Given the description of an element on the screen output the (x, y) to click on. 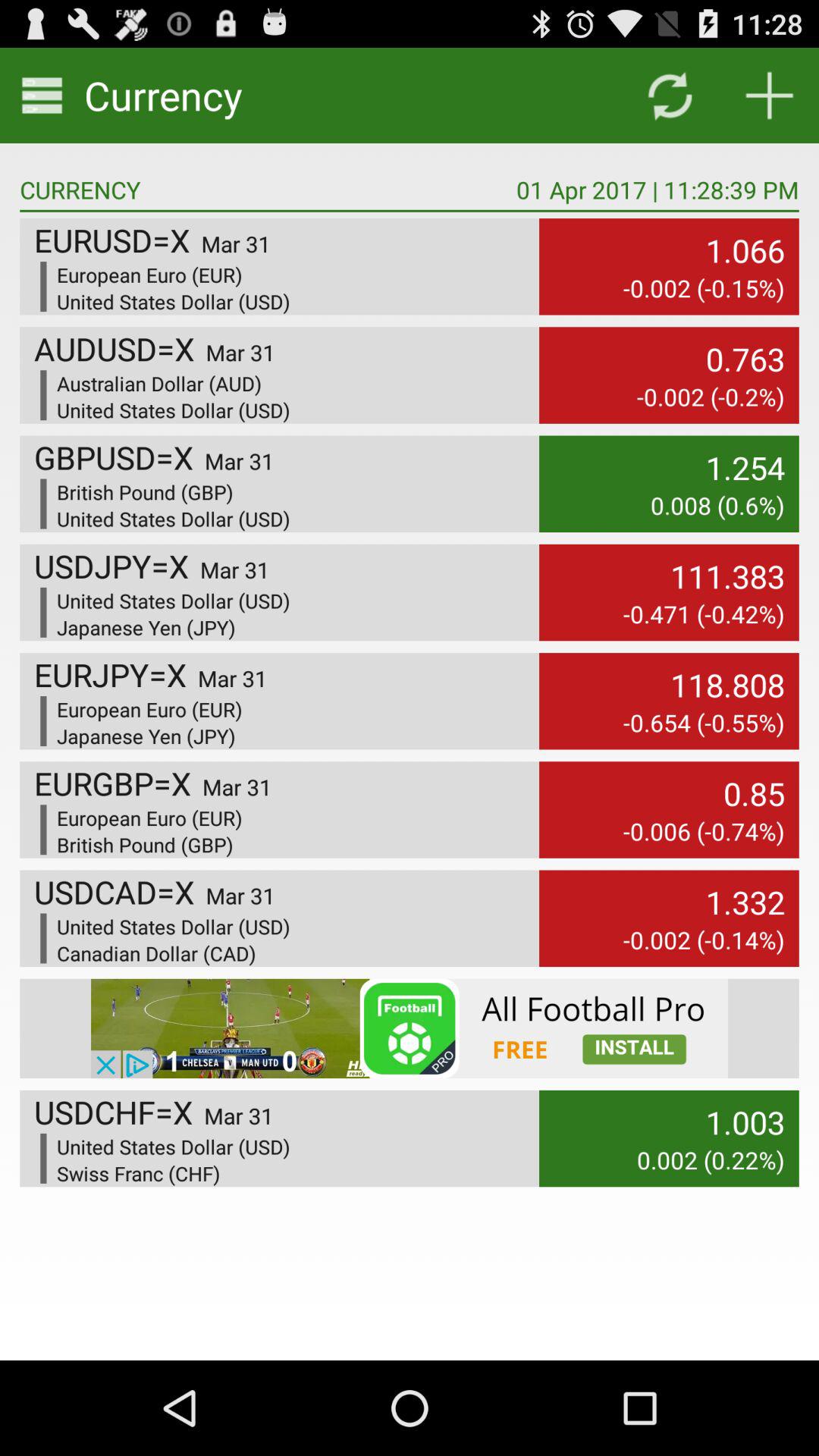
add element (769, 95)
